Given the description of an element on the screen output the (x, y) to click on. 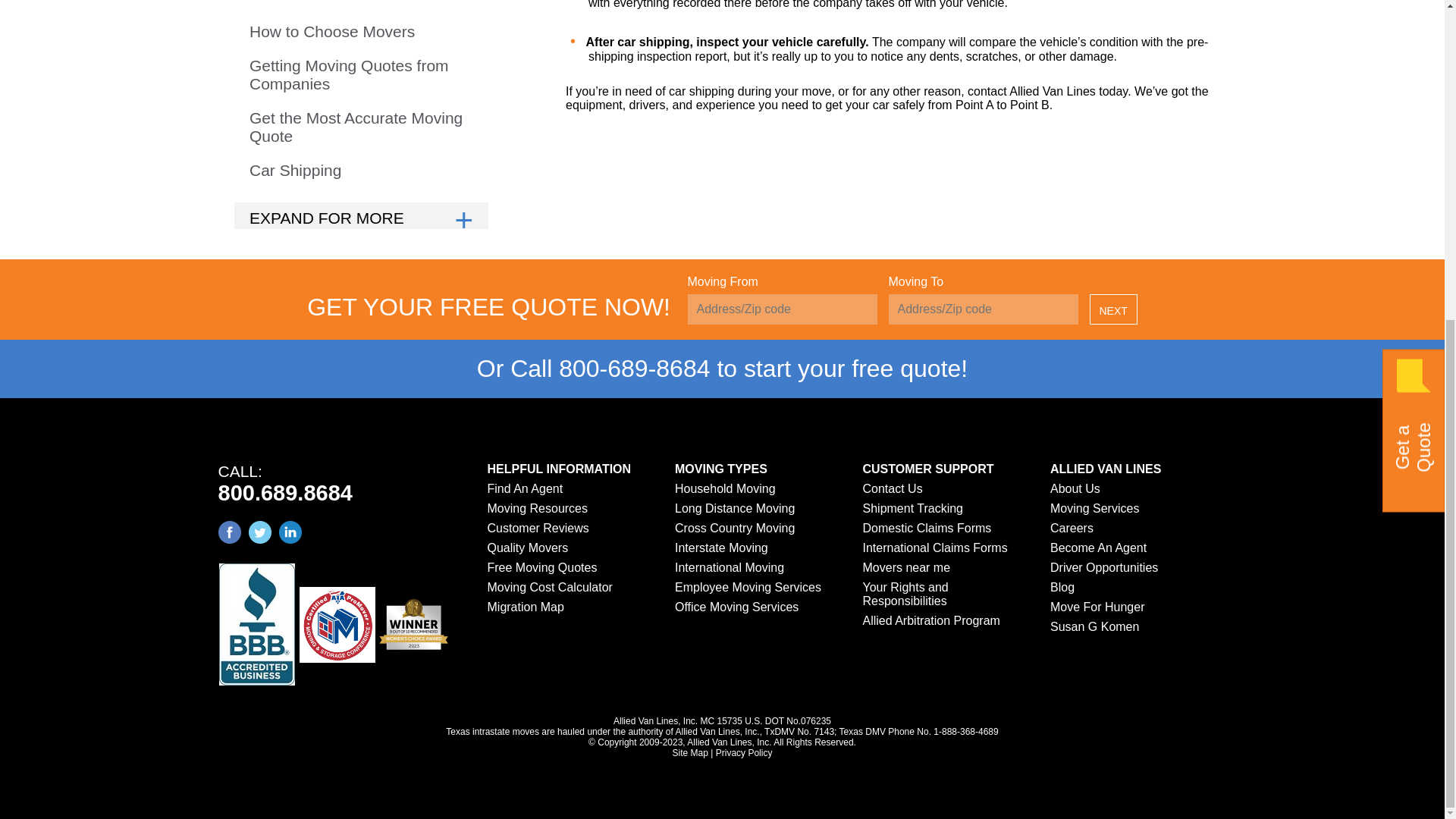
Household Moving (725, 488)
Twitter Icon (259, 531)
NEXT (1113, 309)
Quality Movers (526, 547)
Migration Map (524, 606)
Moving Resources (537, 508)
Car Shipping (294, 170)
Free Moving Quotes (541, 567)
Getting Moving Quotes from Companies (360, 74)
Customer Reviews (537, 527)
Allied Arbitration Program (931, 620)
Facebook Icon (335, 484)
How to Choose Movers (229, 531)
Long Distance Moving (331, 31)
